Given the description of an element on the screen output the (x, y) to click on. 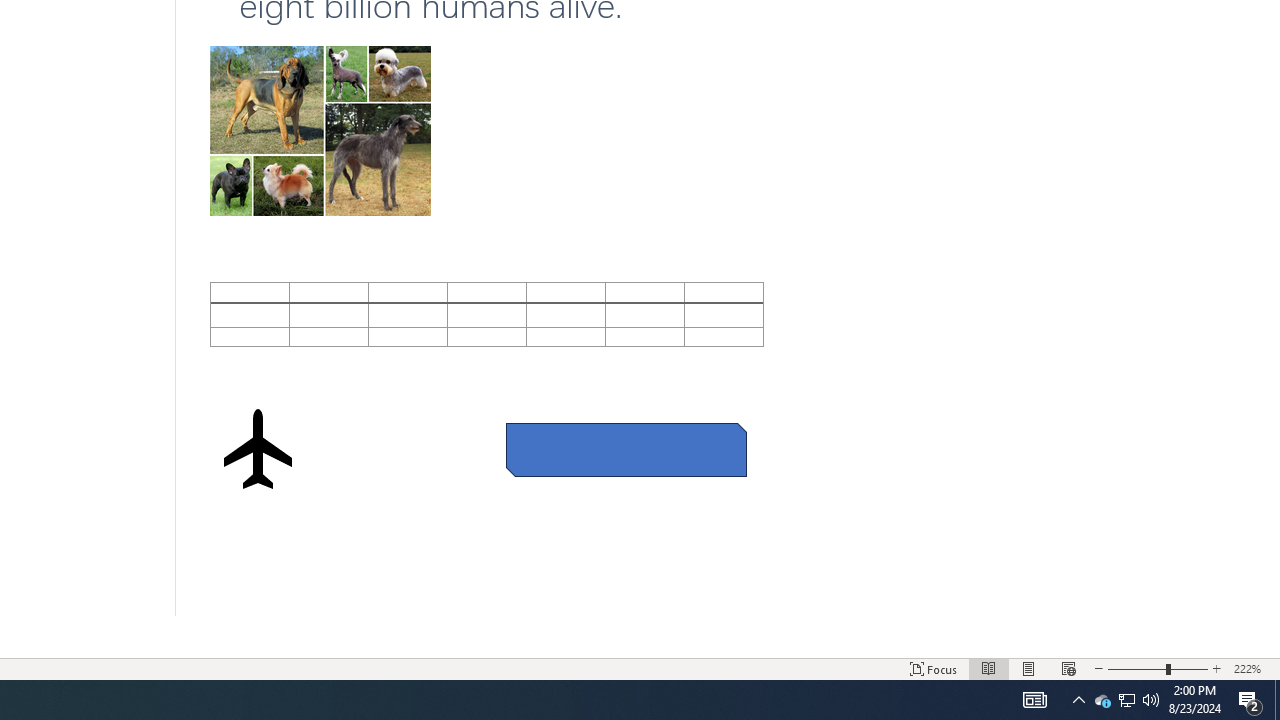
Increase Text Size (1217, 668)
Text Size (1158, 668)
Rectangle: Diagonal Corners Snipped 2 (626, 449)
Decrease Text Size (1099, 668)
